Given the description of an element on the screen output the (x, y) to click on. 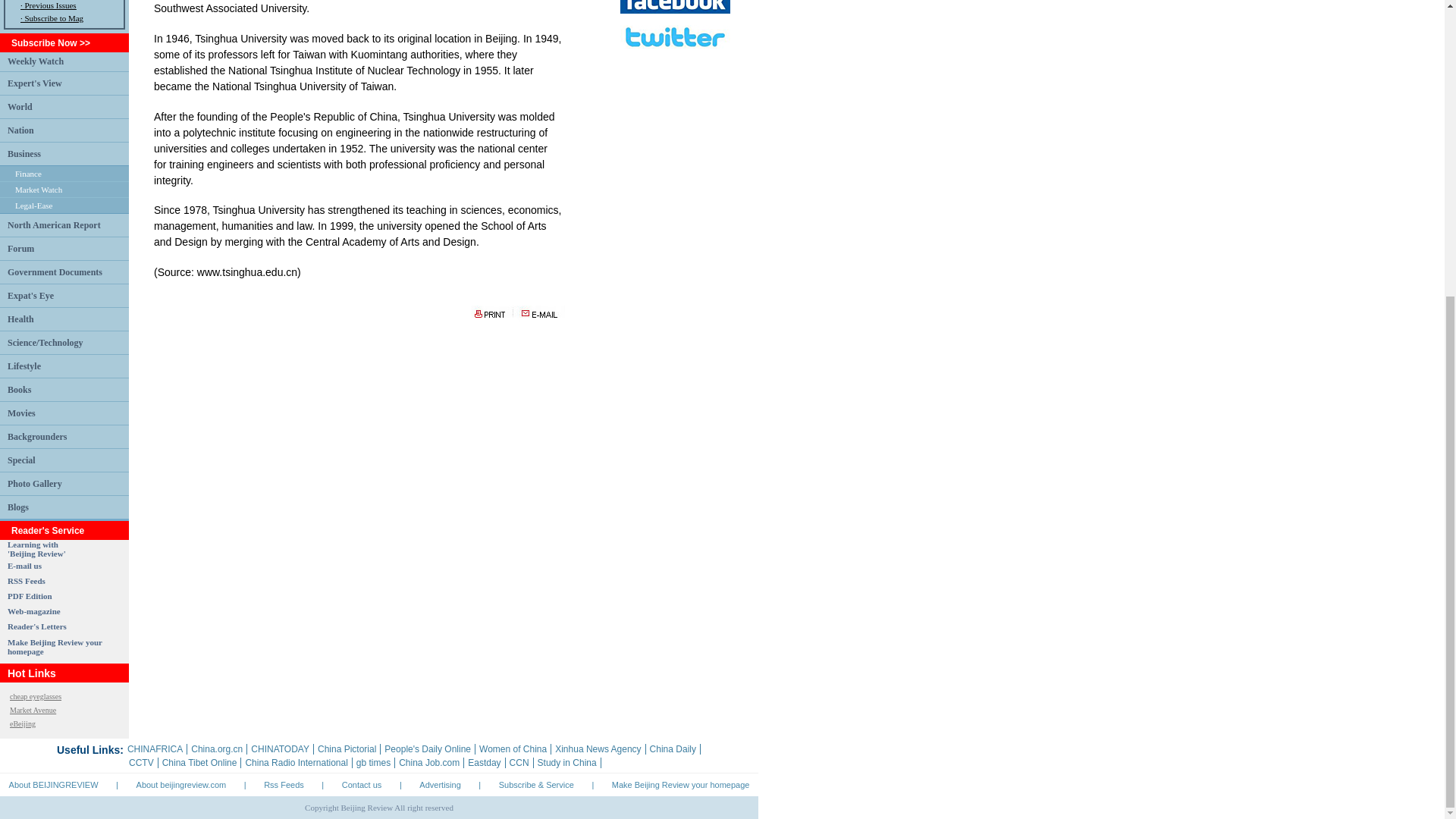
E-mail us (24, 565)
Photo Gallery (36, 548)
Make Beijing Review your homepage (34, 483)
Government Documents (54, 647)
Health (54, 271)
Blogs (20, 317)
World (18, 506)
Movies (19, 105)
Legal-Ease (20, 412)
Previous Issues (33, 204)
Reader's Letters (49, 4)
Nation (36, 625)
Weekly Watch (20, 130)
North American Report (35, 61)
